Given the description of an element on the screen output the (x, y) to click on. 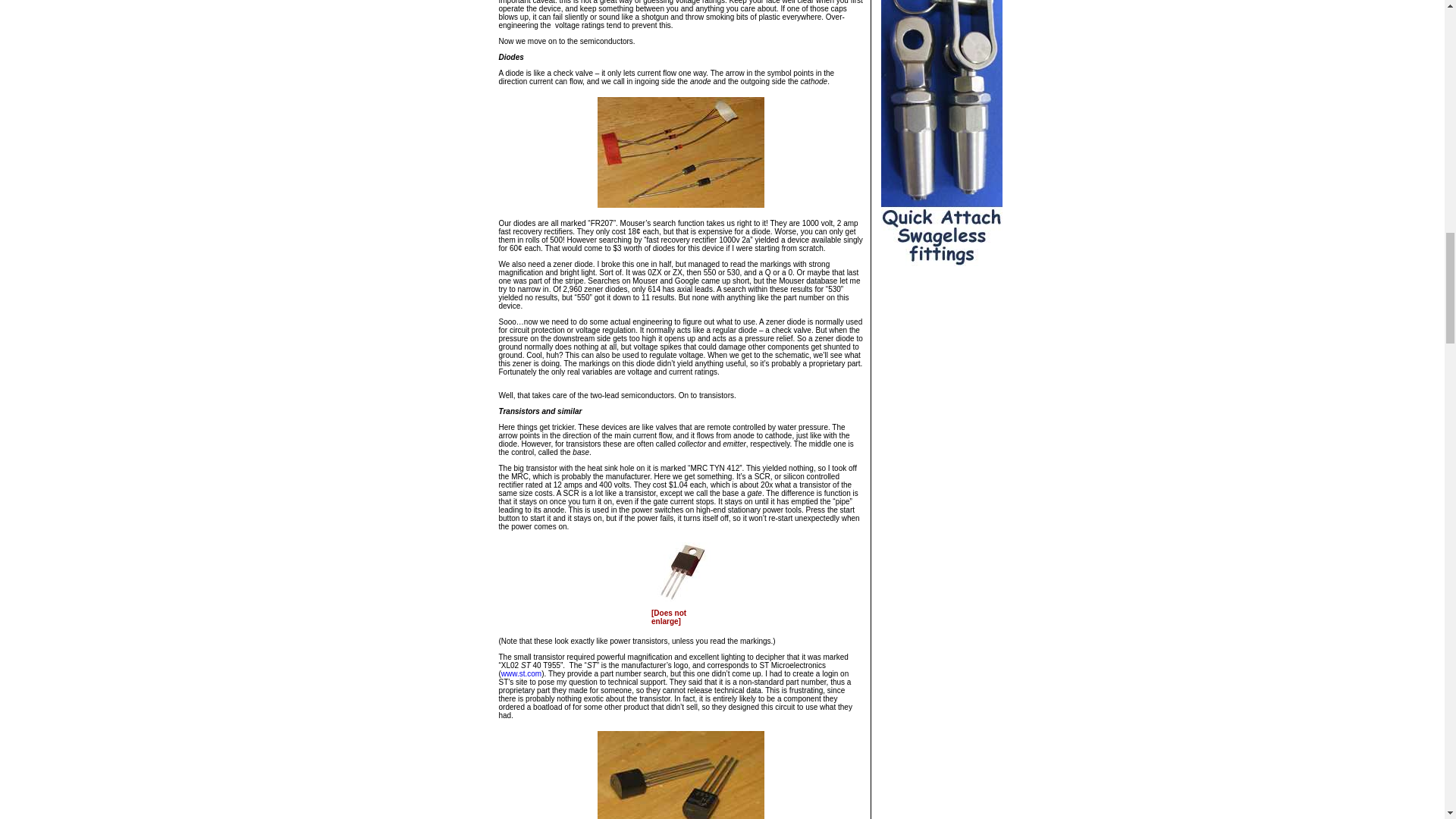
www.st.com (520, 673)
